Given the description of an element on the screen output the (x, y) to click on. 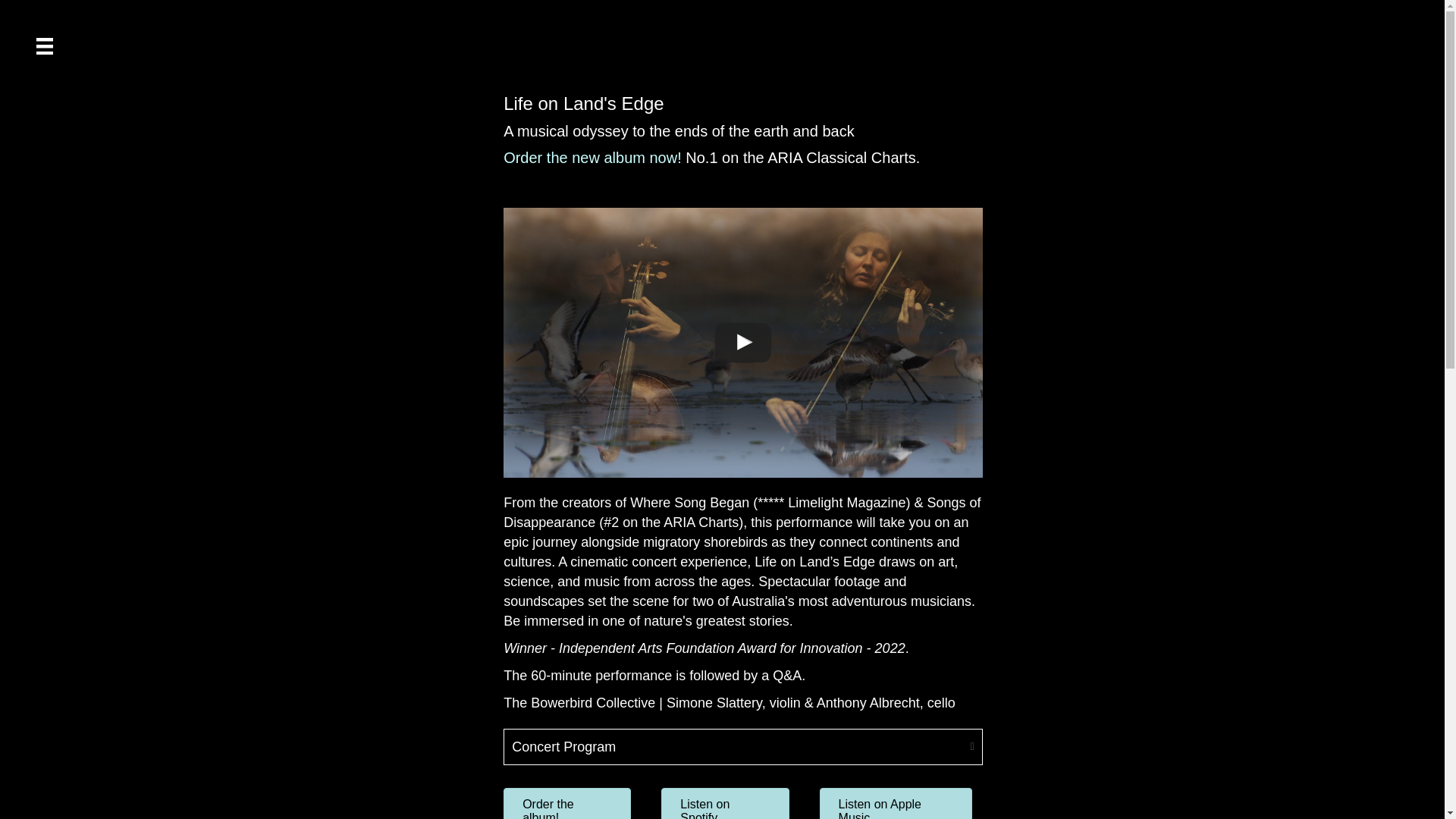
Order the new album now! (592, 157)
Listen on Spotify (725, 803)
Songs of Disappearance (741, 512)
Where Song Began (689, 502)
Order the album! (566, 803)
Listen on Apple Music (895, 803)
